Given the description of an element on the screen output the (x, y) to click on. 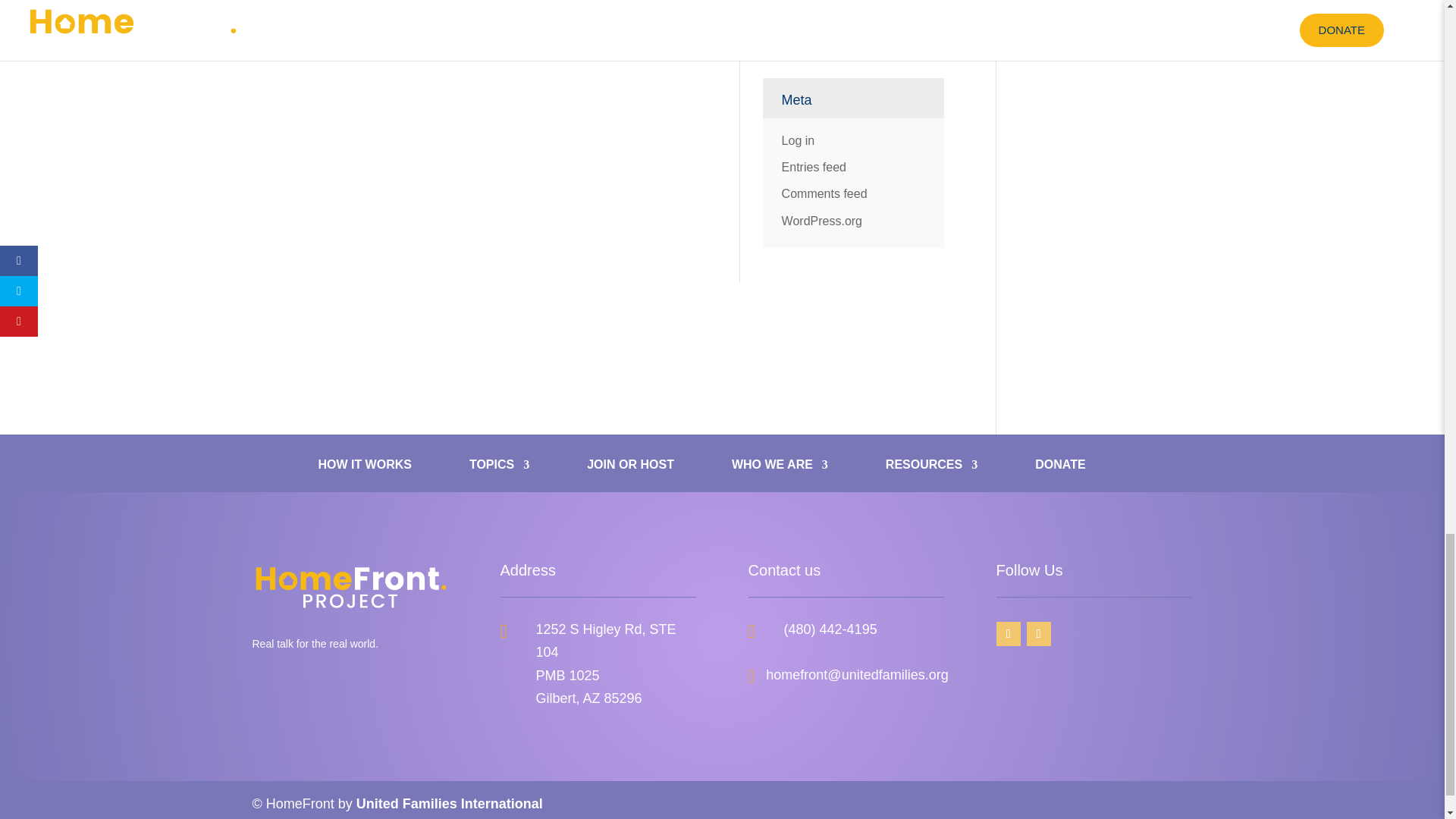
HomeFront Logo-01 (349, 586)
Follow on Facebook (1007, 633)
Follow on Instagram (1038, 633)
